Given the description of an element on the screen output the (x, y) to click on. 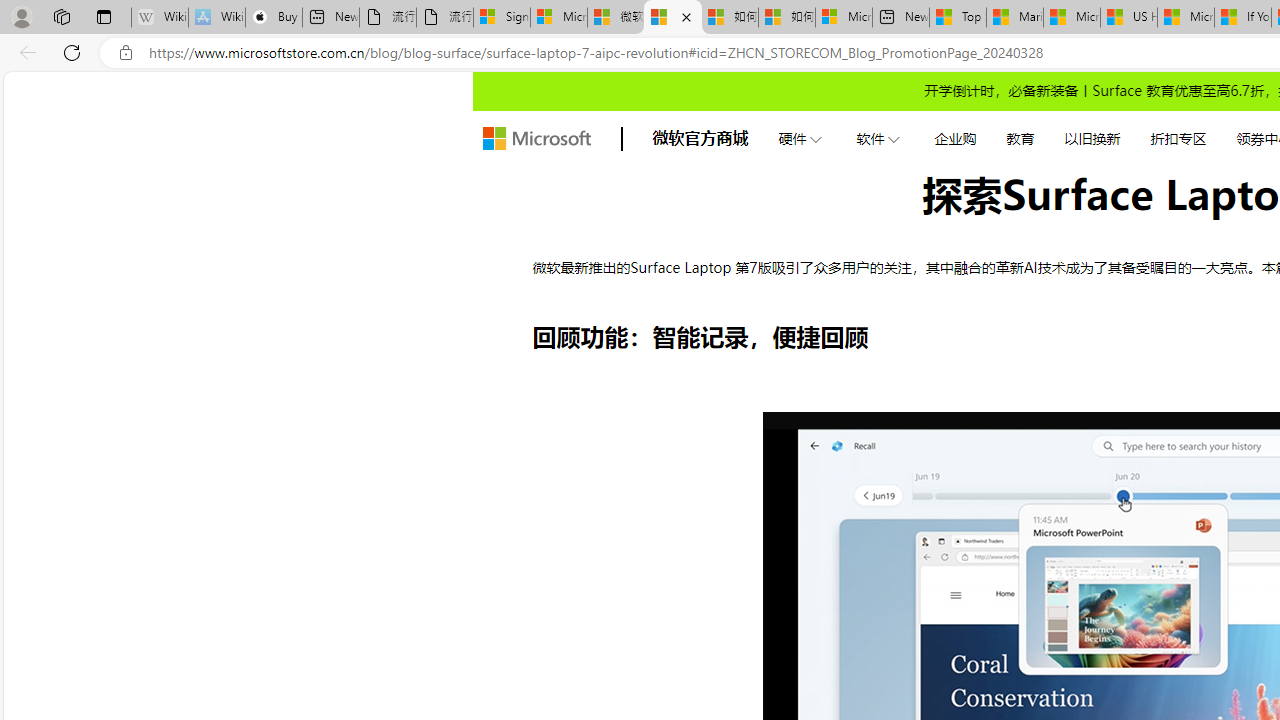
store logo (536, 138)
